Given the description of an element on the screen output the (x, y) to click on. 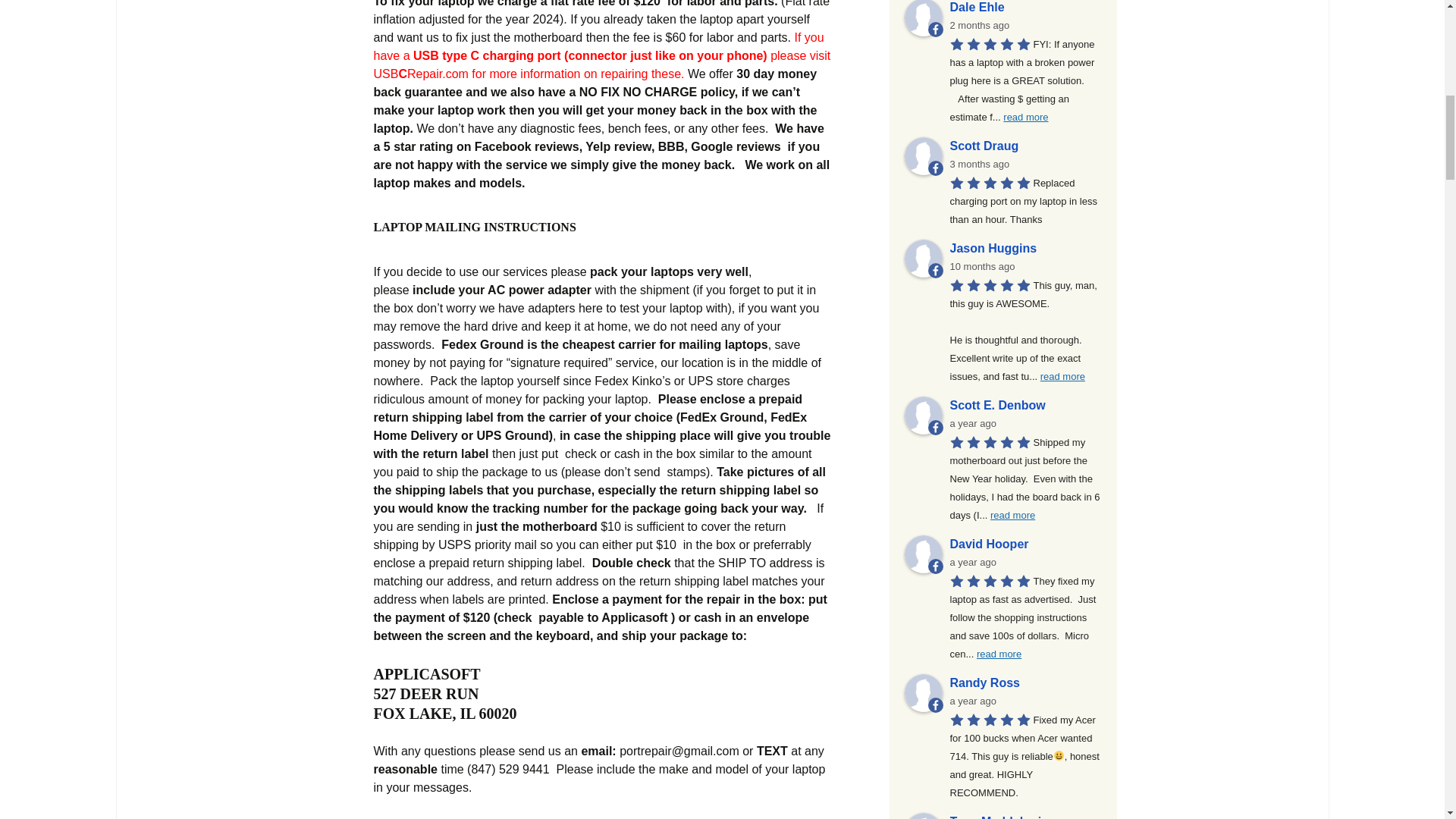
Jason Huggins (923, 258)
Dale Ehle (1024, 8)
Jason Huggins (1024, 248)
Scott Draug (1024, 146)
Scott Draug (923, 156)
Dale Ehle (923, 18)
